Given the description of an element on the screen output the (x, y) to click on. 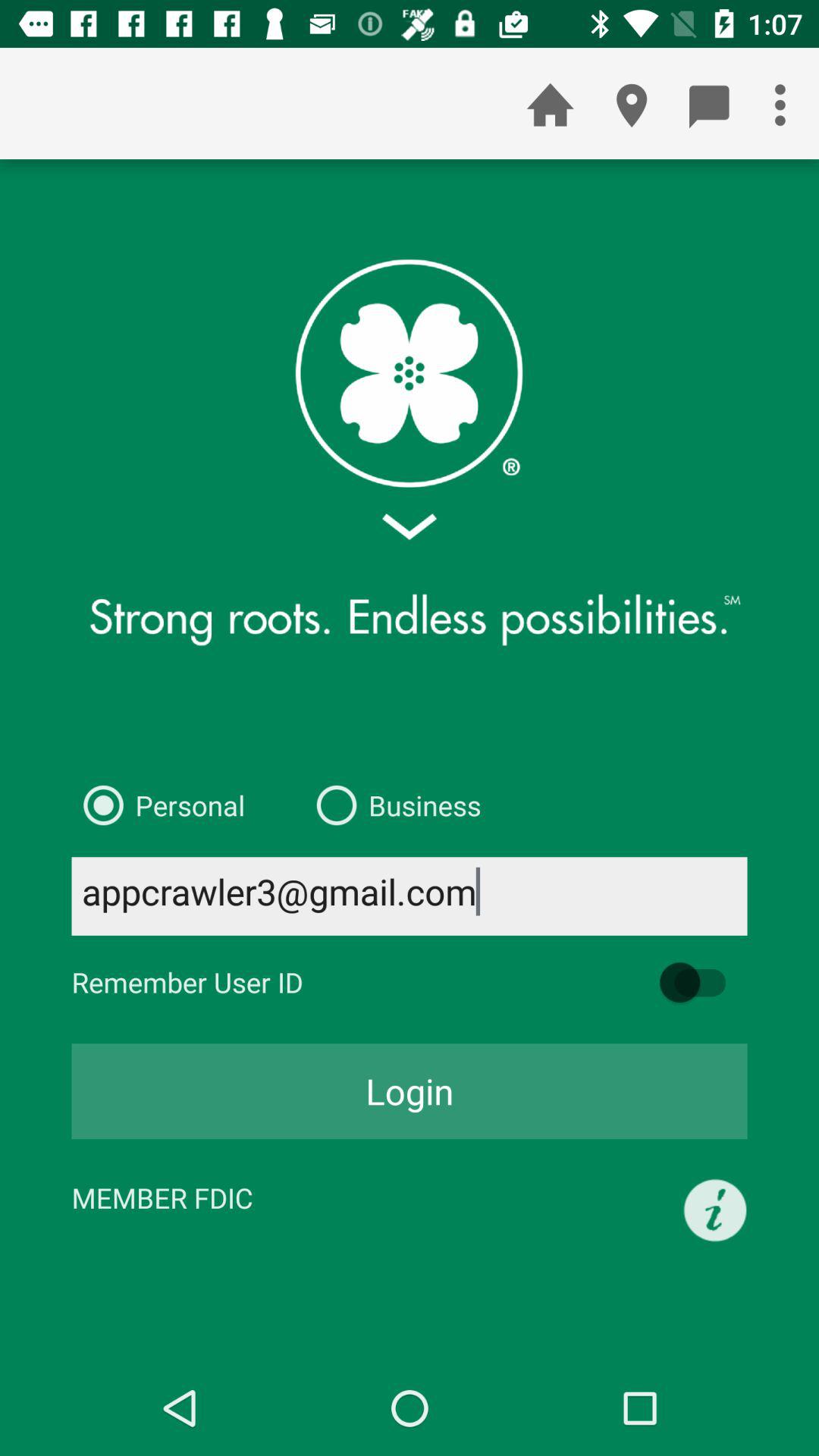
turn off appcrawler3@gmail.com icon (409, 896)
